Given the description of an element on the screen output the (x, y) to click on. 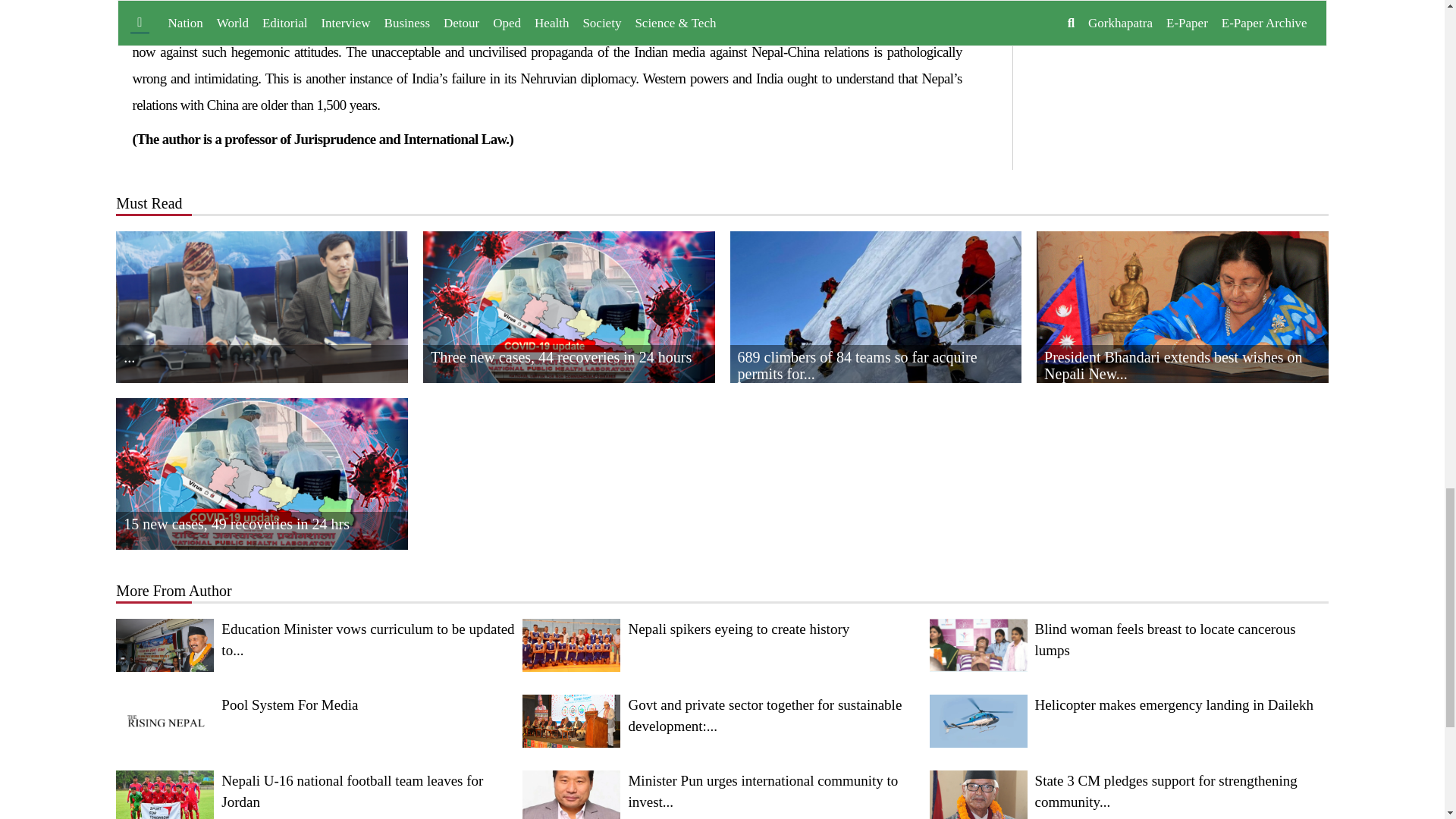
Pool System For Media (315, 720)
689 climbers of 84 teams so far acquire permits for... (875, 340)
15 new cases, 49 recoveries in 24 hrs (261, 507)
Education Minister vows curriculum to be updated to... (315, 645)
Nepali spikers eyeing to create history (721, 645)
Three new cases, 44 recoveries in 24 hours (568, 340)
... (261, 340)
